Given the description of an element on the screen output the (x, y) to click on. 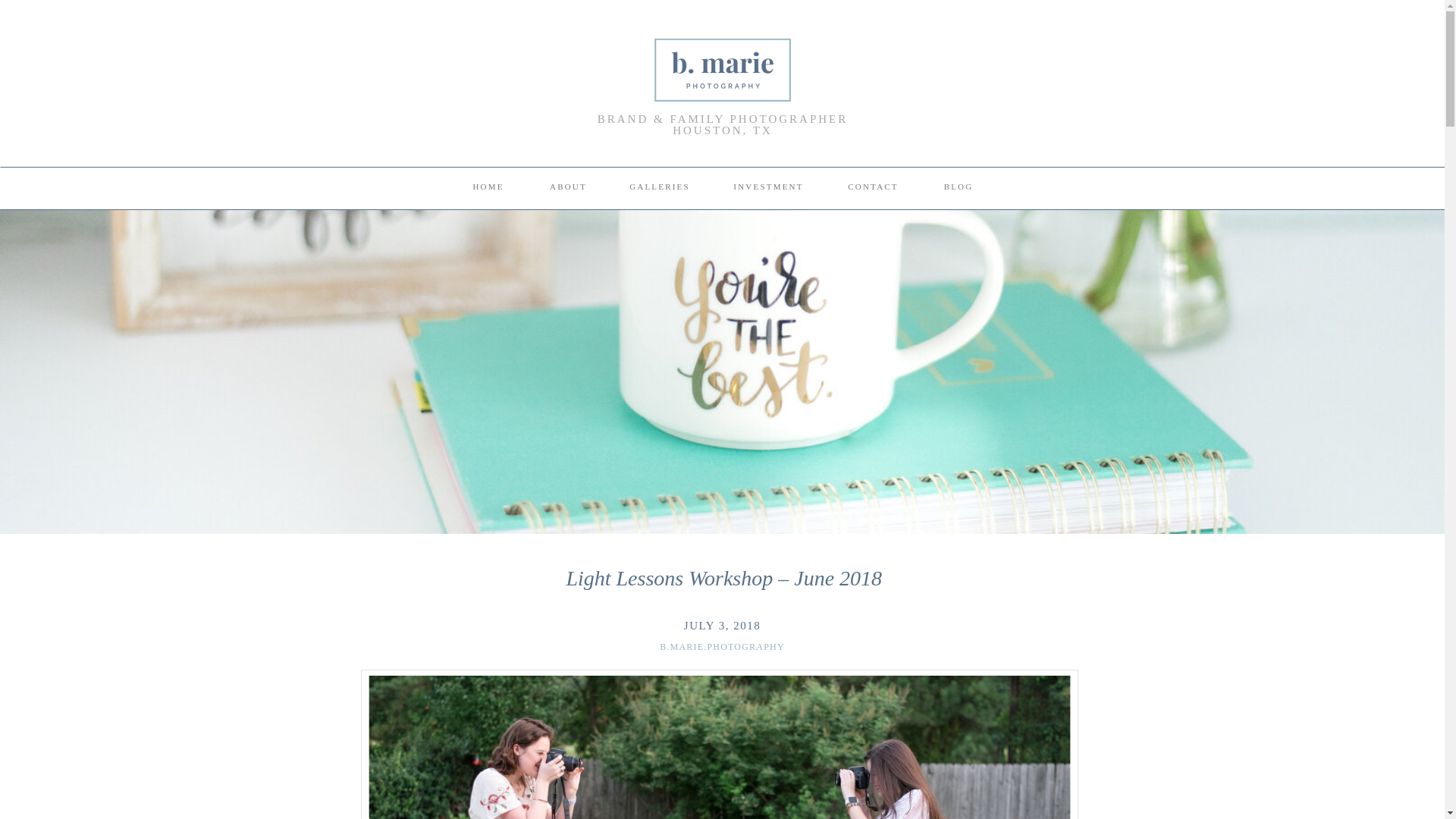
CONTACT (873, 189)
BLOG (958, 189)
INVESTMENT (768, 189)
HOME (488, 189)
ABOUT (568, 189)
B.MARIE.PHOTOGRAPHY (721, 646)
GALLERIES (659, 189)
